Given the description of an element on the screen output the (x, y) to click on. 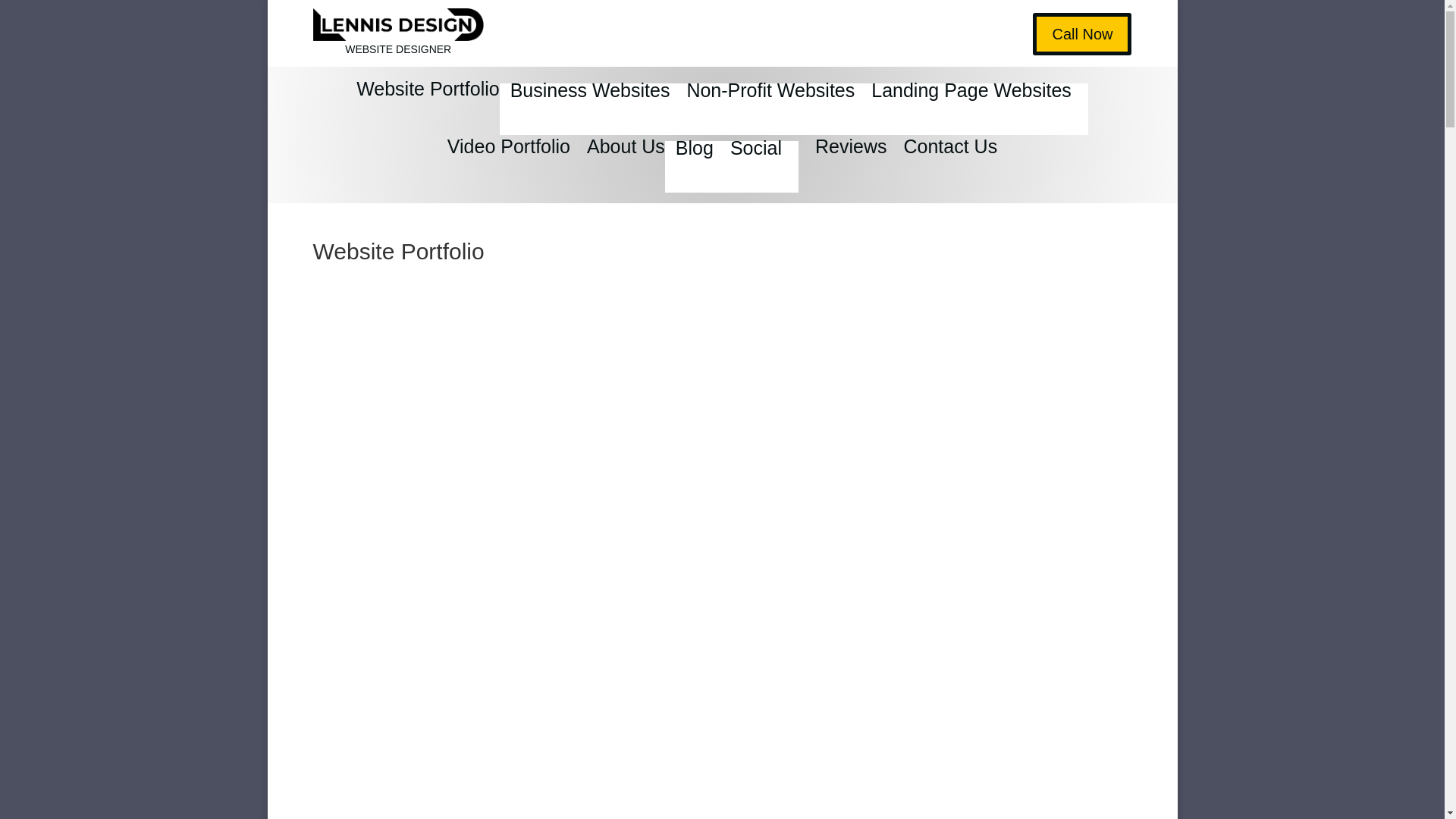
Contact Us (949, 166)
Video Portfolio (508, 166)
Blog (694, 158)
Reviews (850, 166)
Business Websites (590, 101)
Non-Profit Websites (769, 101)
Website Portfolio (427, 109)
About Us (625, 166)
Landing Page Websites (970, 101)
Social (755, 158)
Call Now (1081, 34)
